Given the description of an element on the screen output the (x, y) to click on. 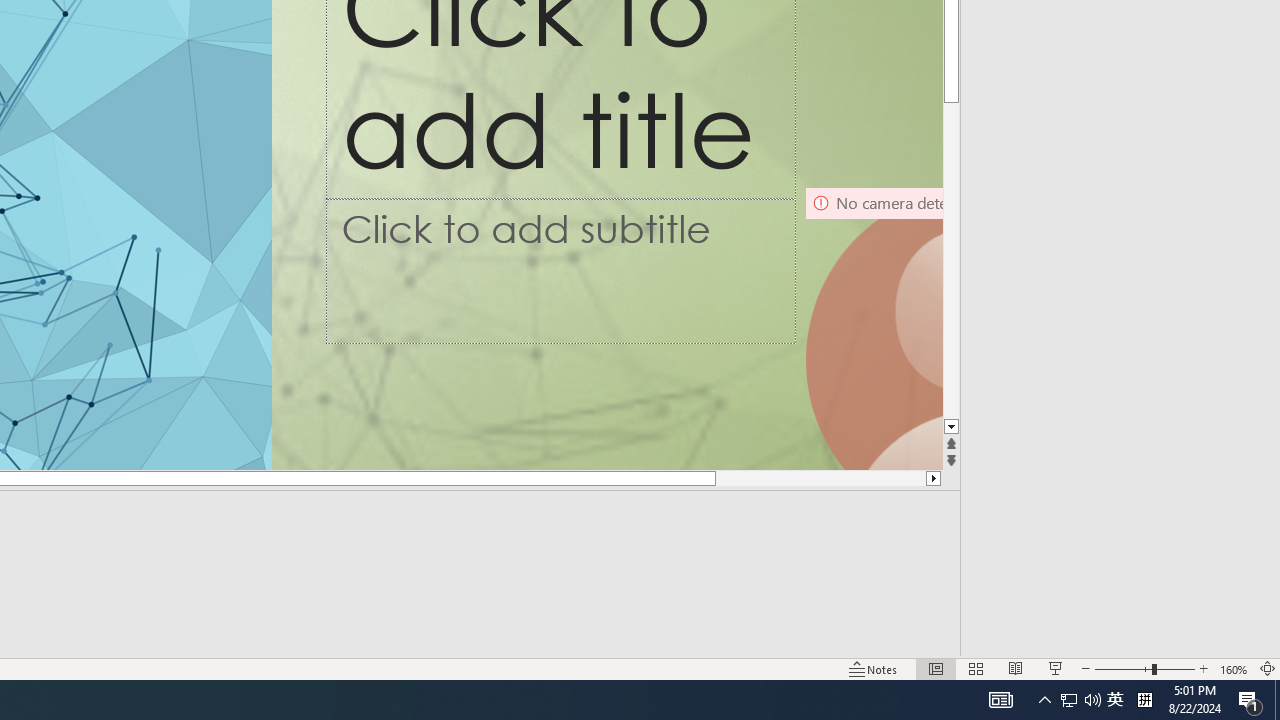
Zoom 160% (1234, 668)
Camera 9, No camera detected. (873, 327)
